Given the description of an element on the screen output the (x, y) to click on. 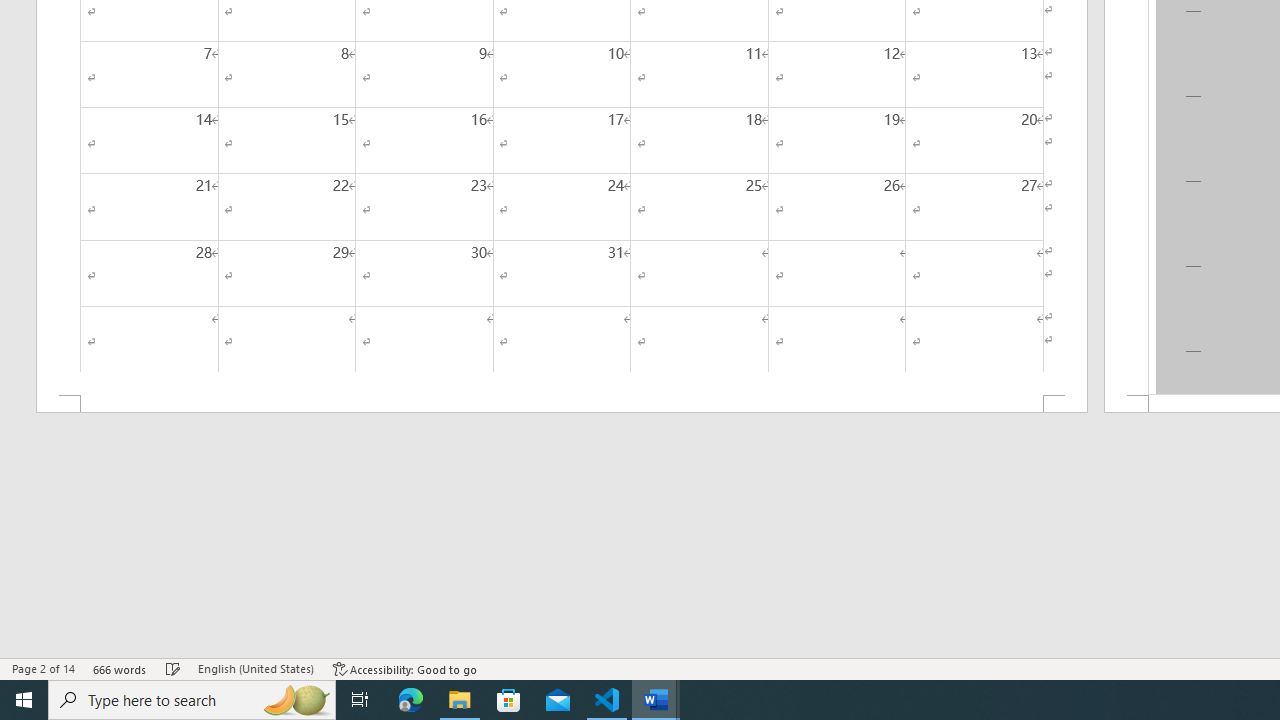
Task View (359, 699)
Word Count 666 words (119, 668)
Accessibility Checker Accessibility: Good to go (405, 668)
File Explorer - 1 running window (460, 699)
Word - 2 running windows (656, 699)
Visual Studio Code - 1 running window (607, 699)
Spelling and Grammar Check Checking (173, 668)
Type here to search (191, 699)
Search highlights icon opens search home window (295, 699)
Microsoft Store (509, 699)
Page Number Page 2 of 14 (43, 668)
Footer -Section 1- (561, 404)
Start (24, 699)
